Given the description of an element on the screen output the (x, y) to click on. 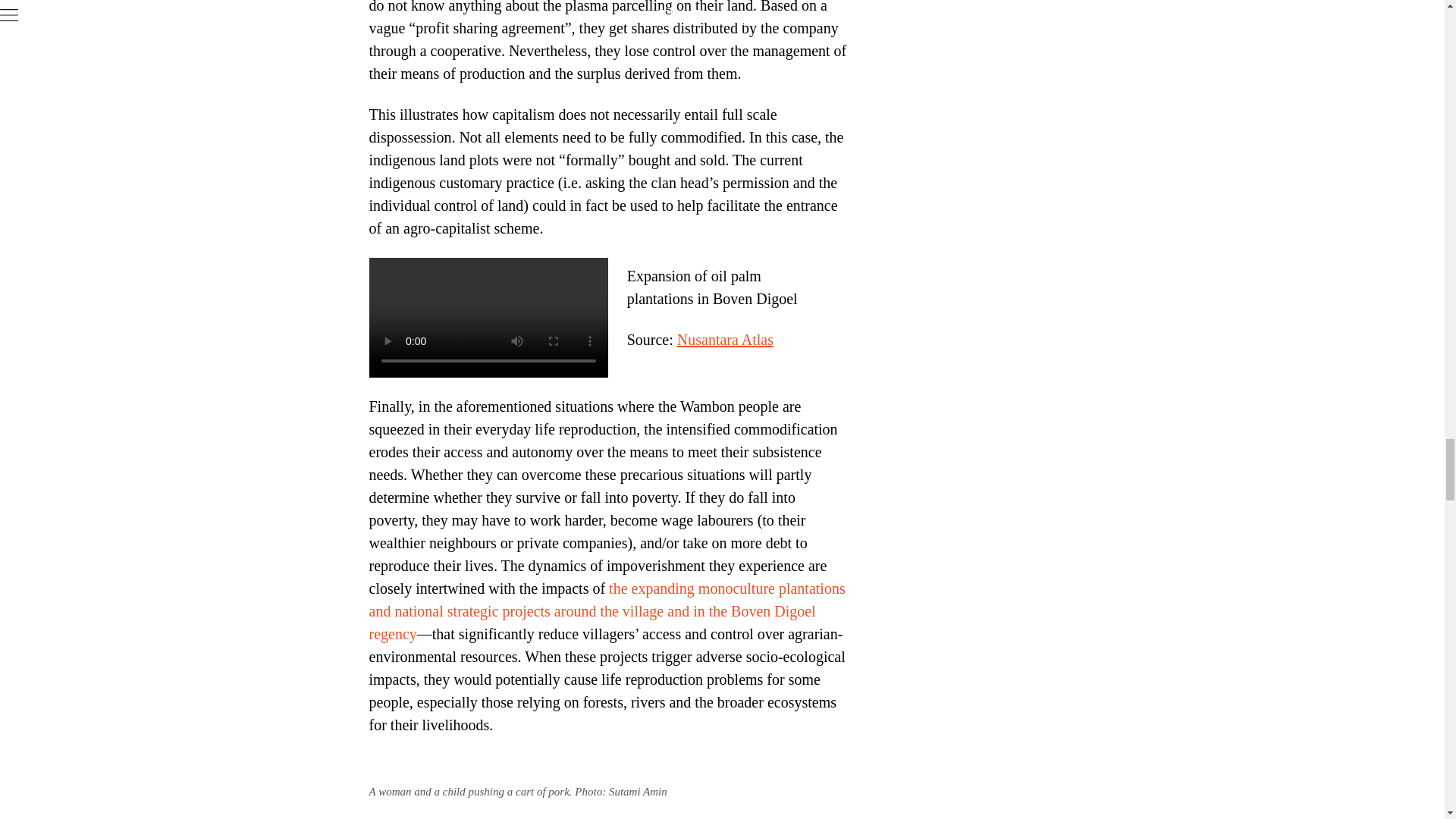
Nusantara Atlas (725, 339)
